Given the description of an element on the screen output the (x, y) to click on. 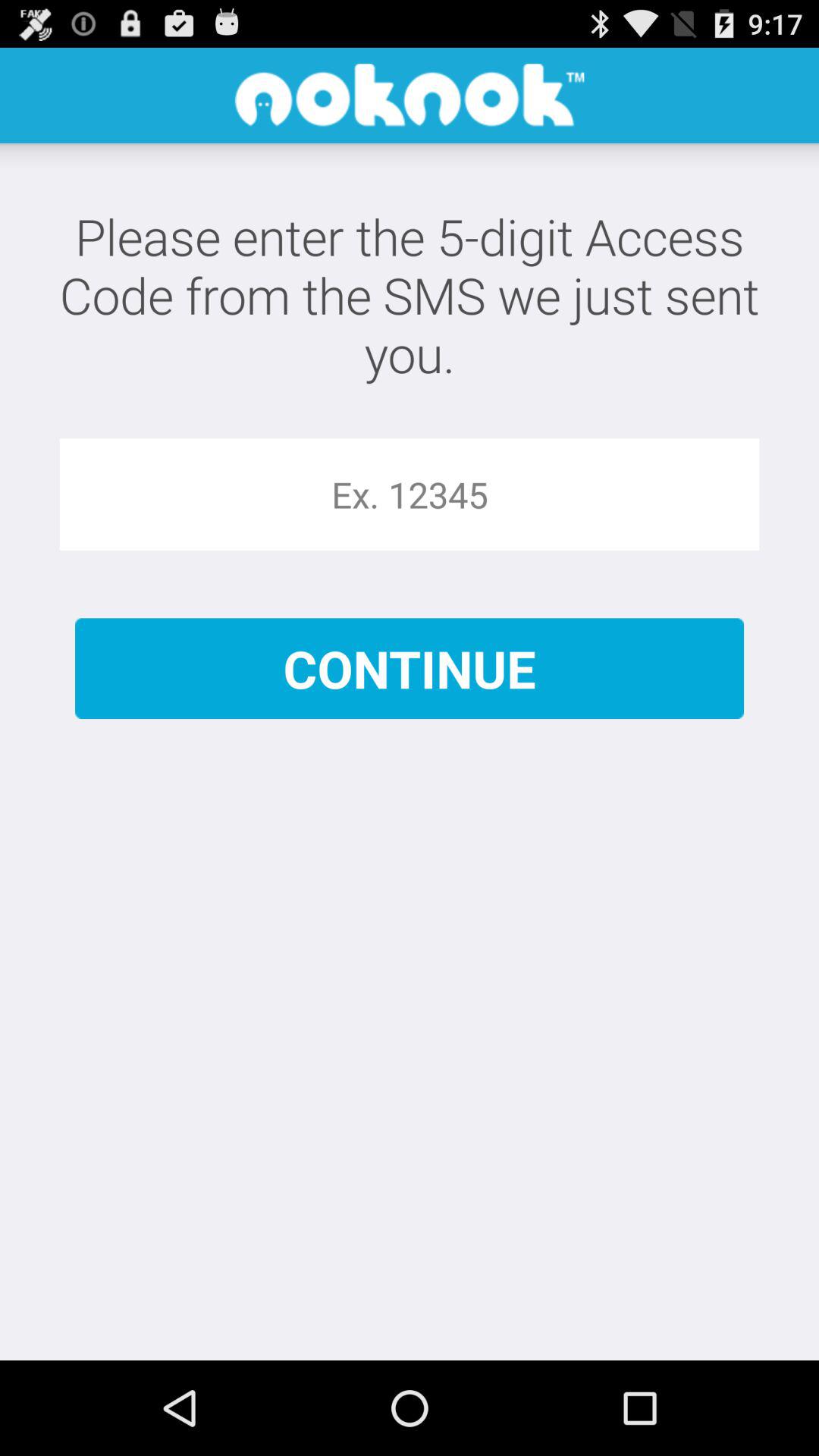
press the continue app (409, 668)
